Given the description of an element on the screen output the (x, y) to click on. 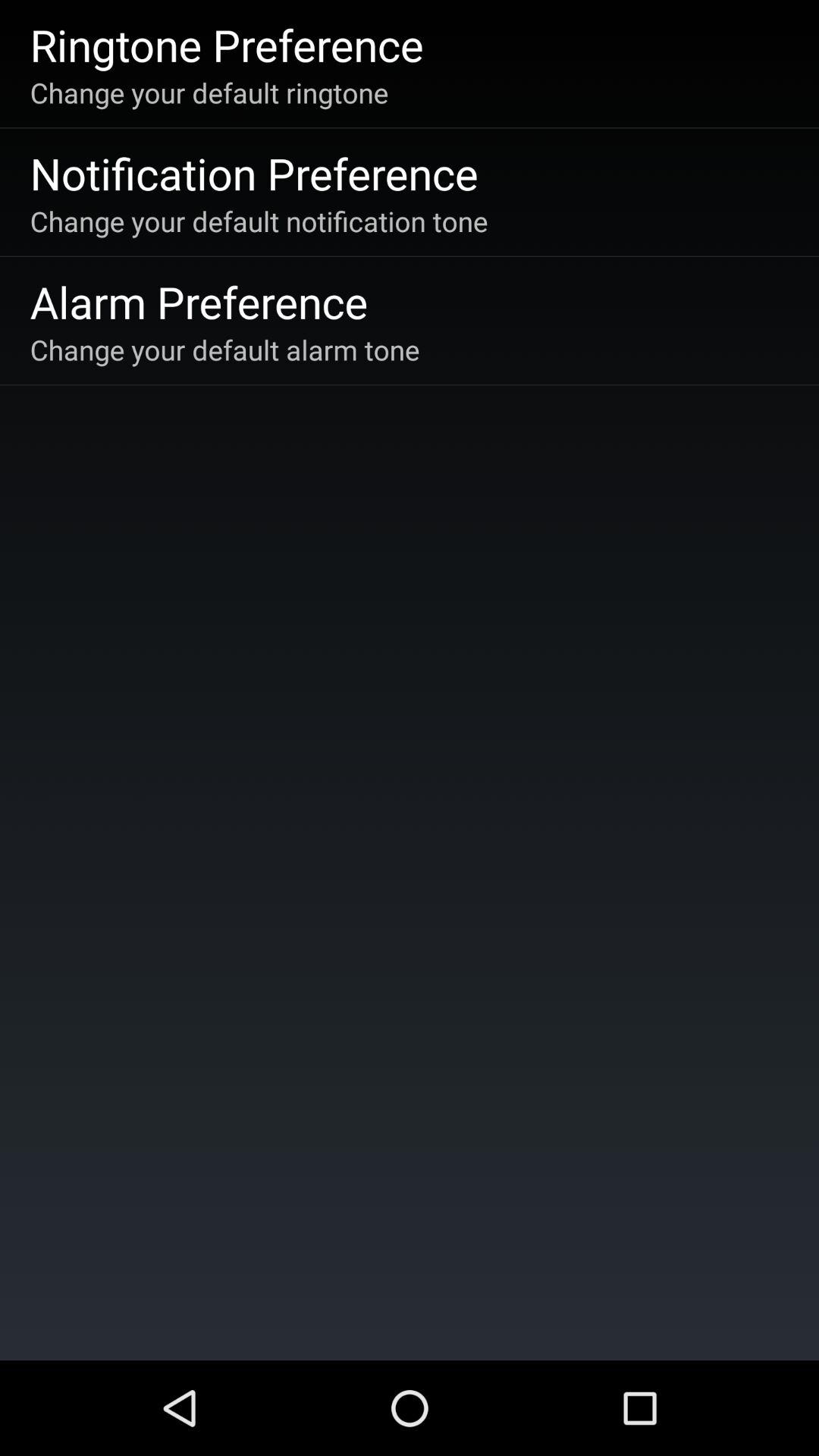
turn off notification preference (254, 172)
